Given the description of an element on the screen output the (x, y) to click on. 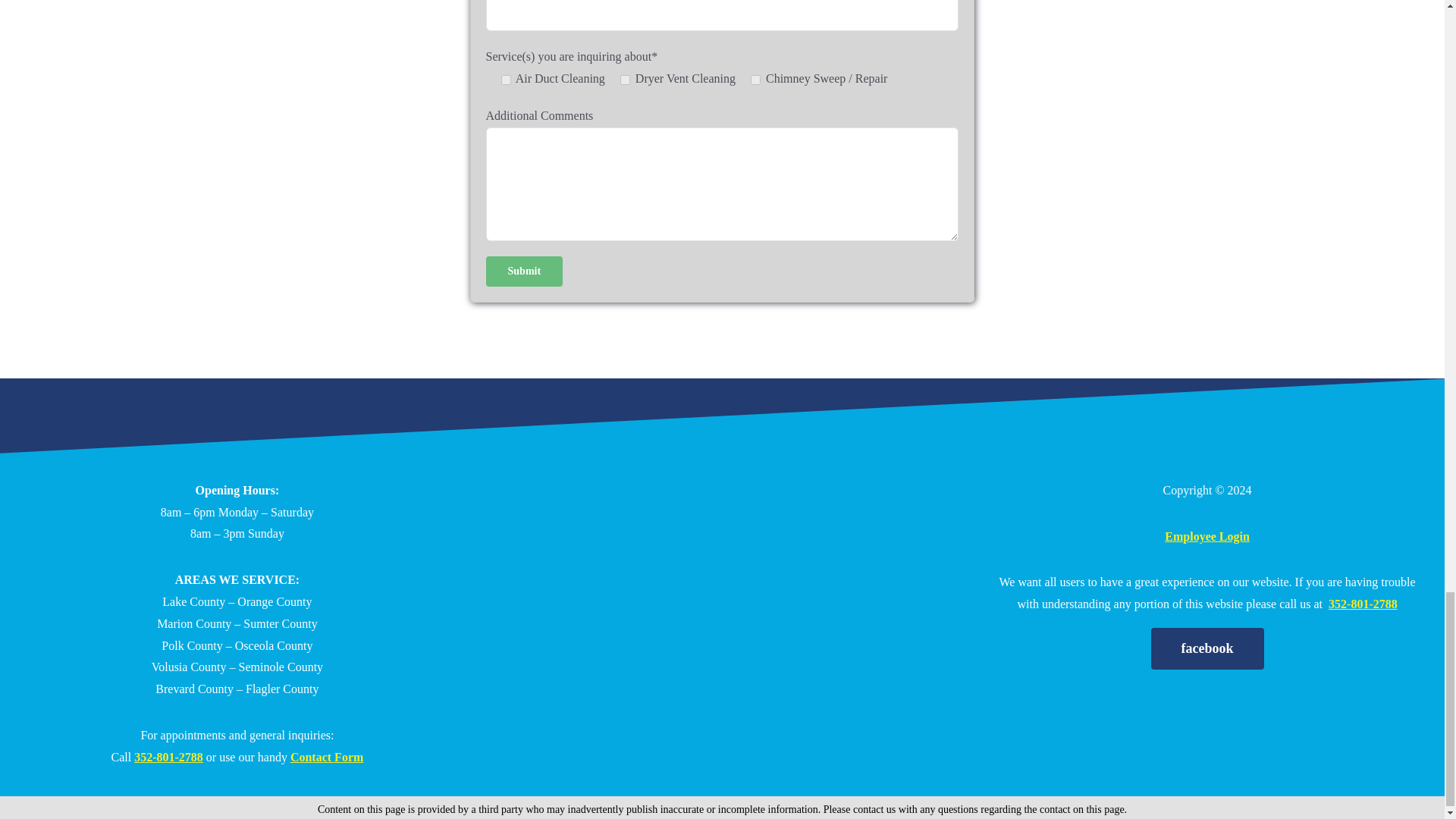
Air Duct Cleaning (505, 80)
Submit (524, 271)
Submit (524, 271)
Dryer Vent Cleaning (625, 80)
352-801-2788 (168, 757)
Contact Form (325, 757)
